Given the description of an element on the screen output the (x, y) to click on. 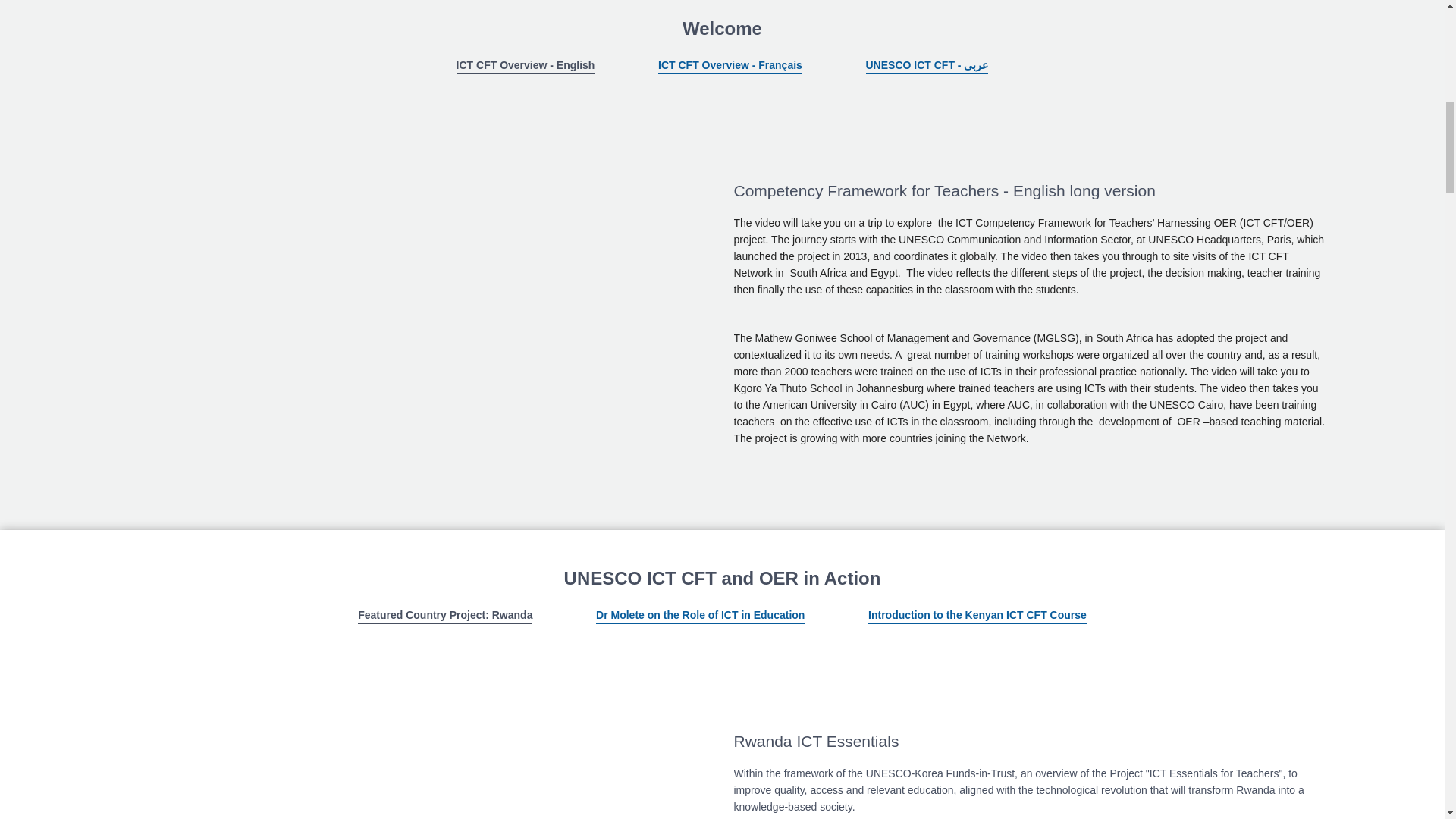
The Kaltura Dynamic Video Player (380, 272)
